Given the description of an element on the screen output the (x, y) to click on. 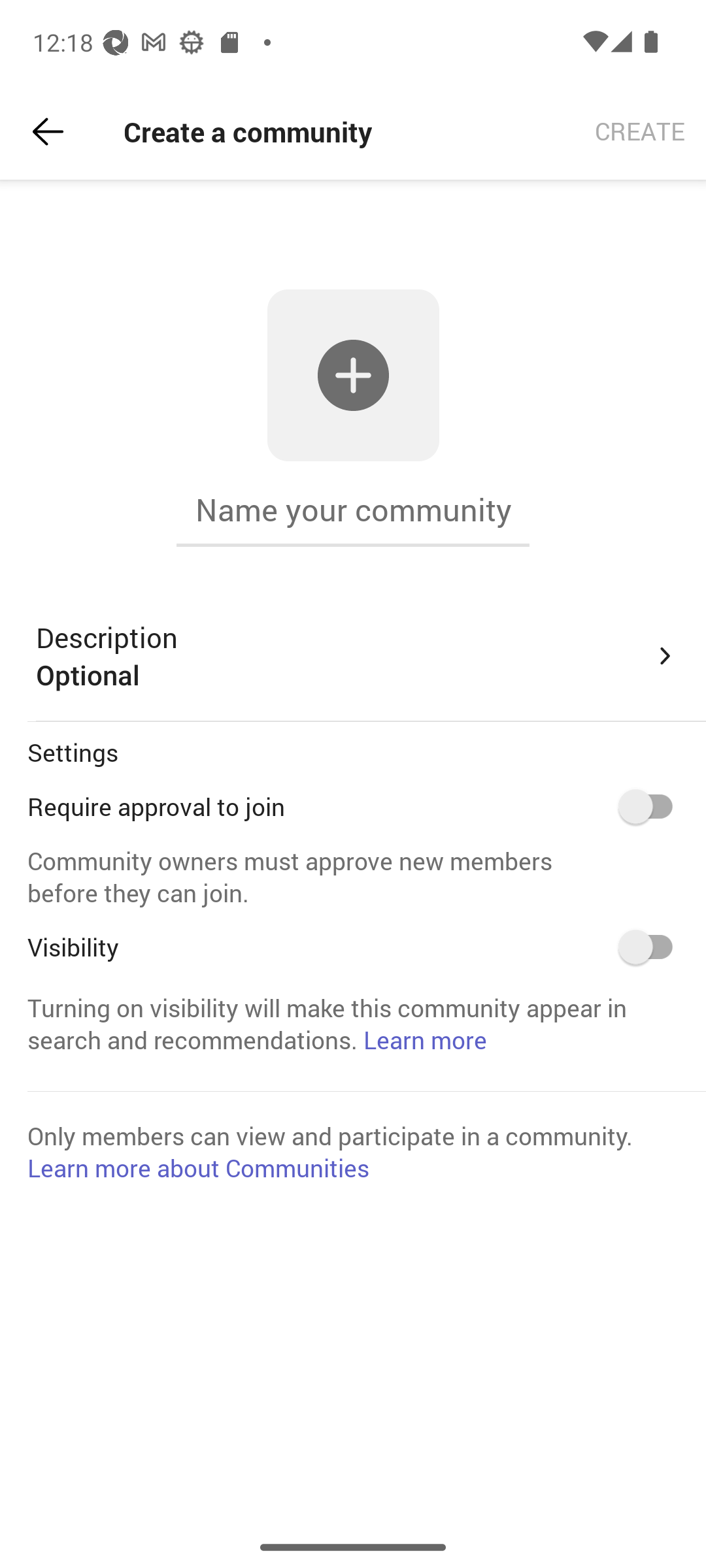
Back (48, 131)
CREATE (639, 131)
Add community image (353, 375)
Name your community (352, 509)
Description Optional (357, 656)
Require approval to join (652, 806)
Visibility (652, 946)
